Given the description of an element on the screen output the (x, y) to click on. 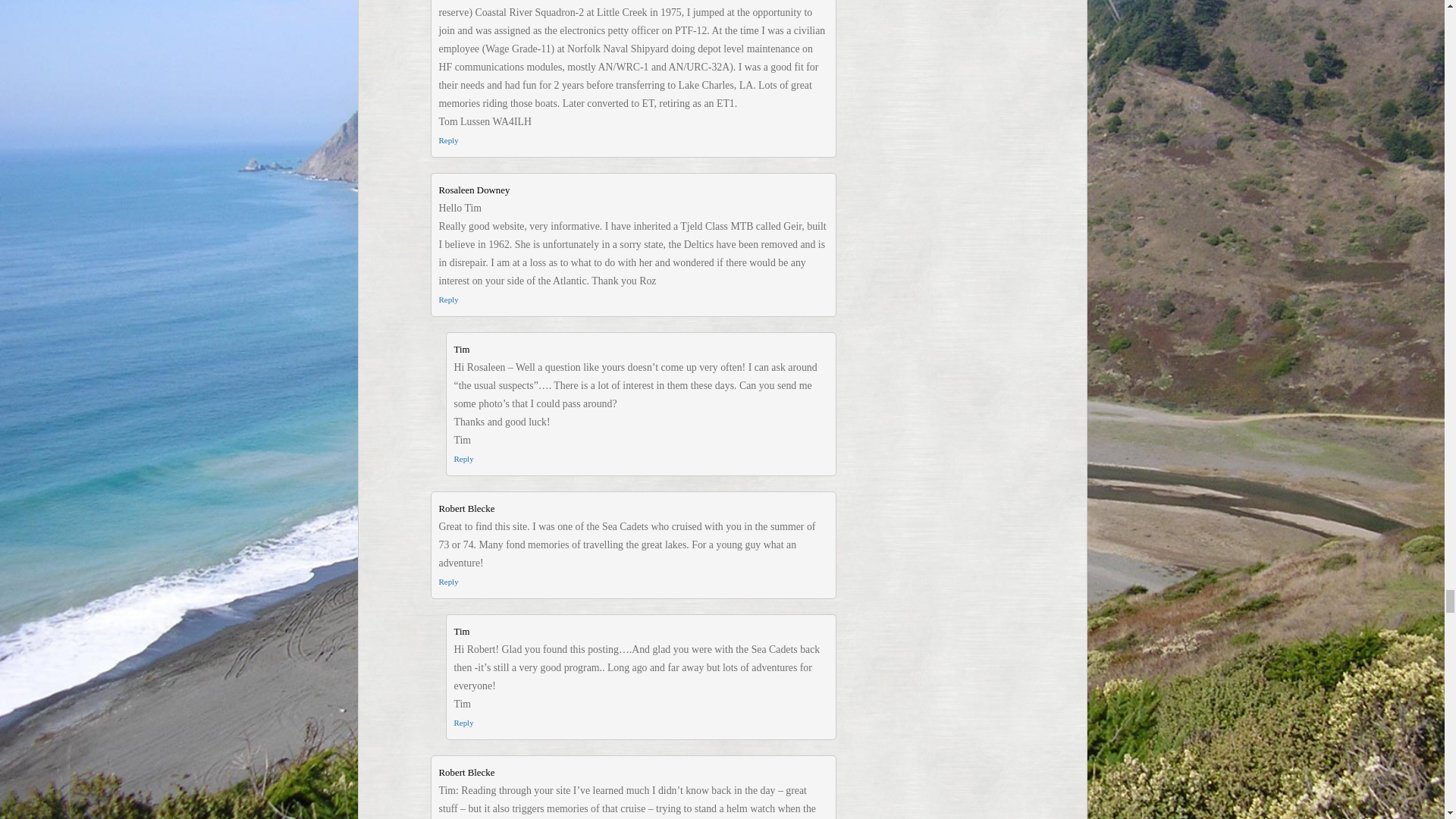
Reply (462, 722)
Reply (448, 581)
Reply (462, 458)
Reply (448, 298)
Reply (448, 139)
